Given the description of an element on the screen output the (x, y) to click on. 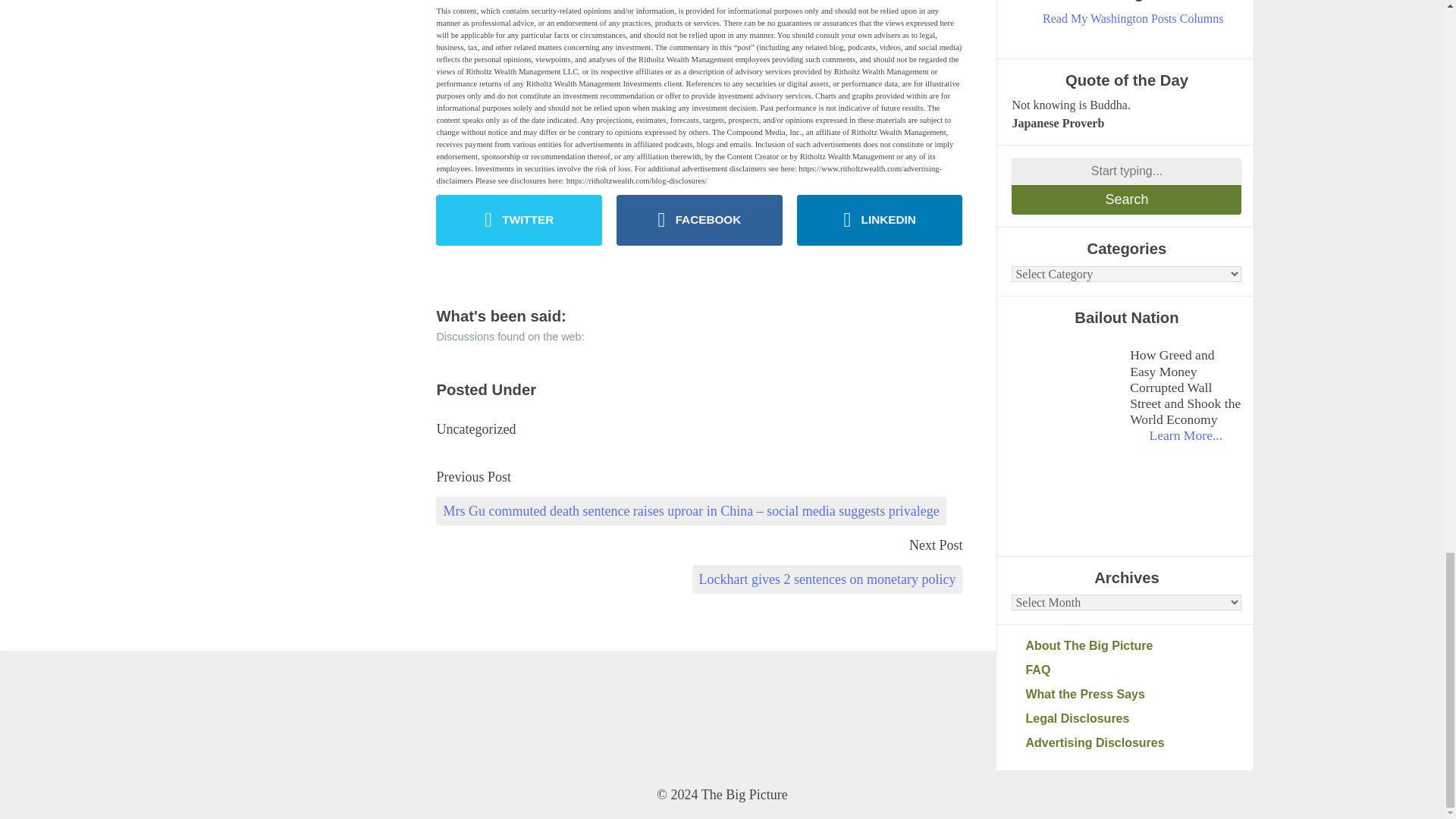
Search (1126, 199)
TWITTER (518, 219)
Legal Disclosures (1133, 719)
LINKEDIN (879, 219)
Read My Washington Posts Columns (1132, 18)
Search (1126, 199)
Bailout Nation (1066, 389)
FACEBOOK (699, 219)
Search (1126, 199)
Lockhart gives 2 sentences on monetary policy (827, 579)
